Given the description of an element on the screen output the (x, y) to click on. 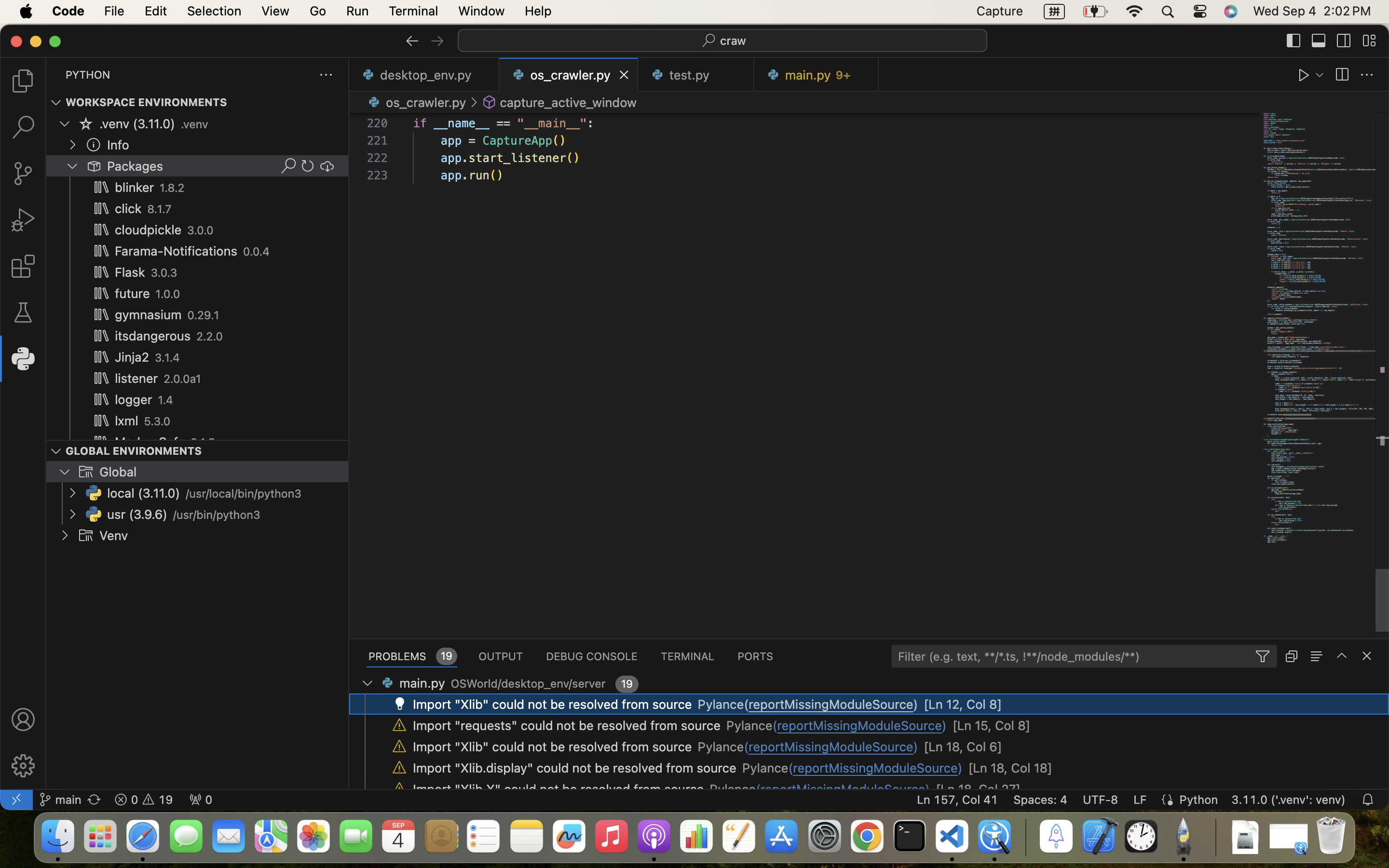
main  Element type: AXButton (59, 799)
5.3.0 Element type: AXStaticText (156, 421)
0 desktop_env.py   Element type: AXRadioButton (424, 74)
 Element type: AXCheckBox (1344, 40)
0 DEBUG CONSOLE Element type: AXRadioButton (591, 655)
